Given the description of an element on the screen output the (x, y) to click on. 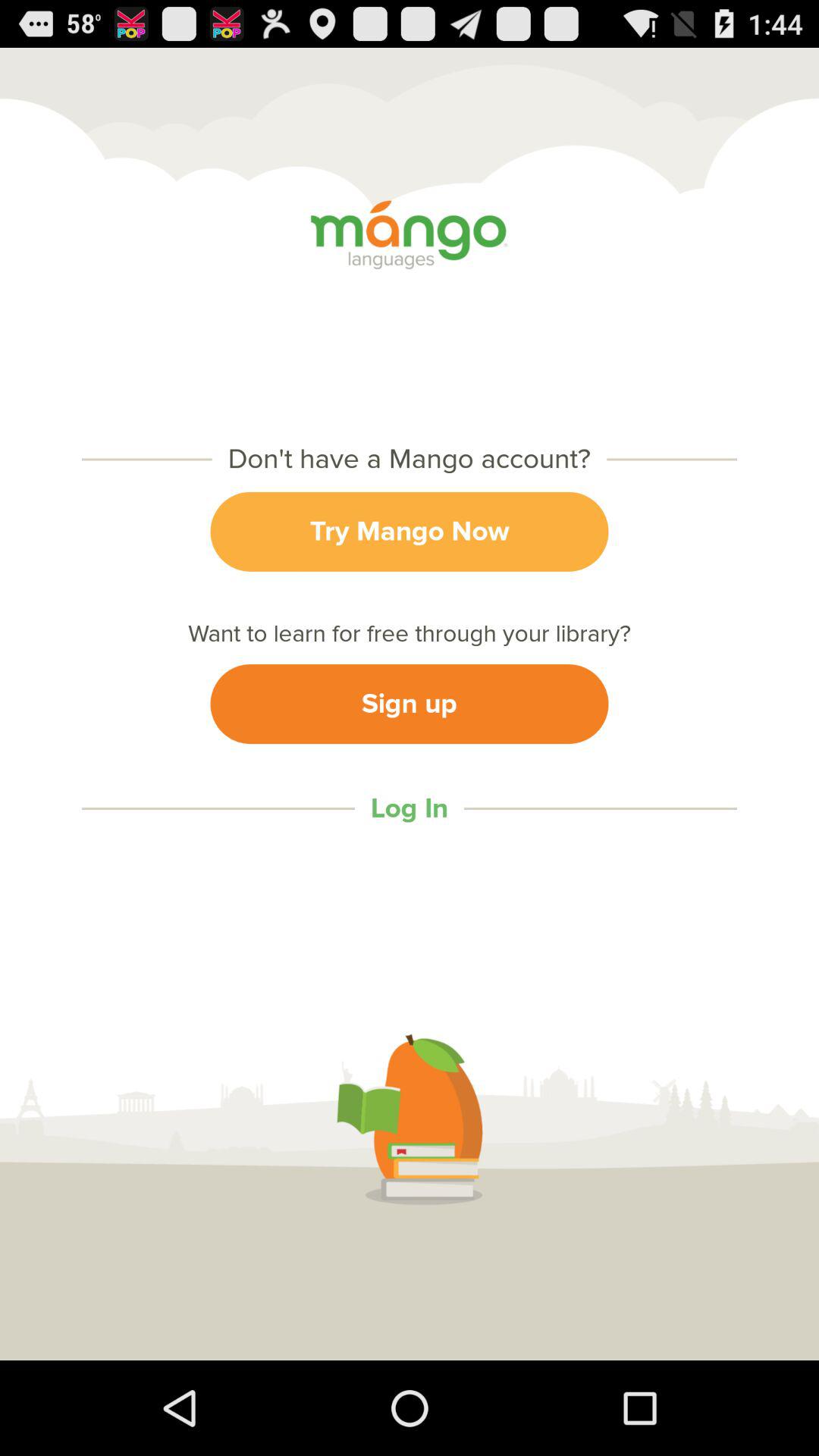
flip to sign up icon (409, 703)
